Given the description of an element on the screen output the (x, y) to click on. 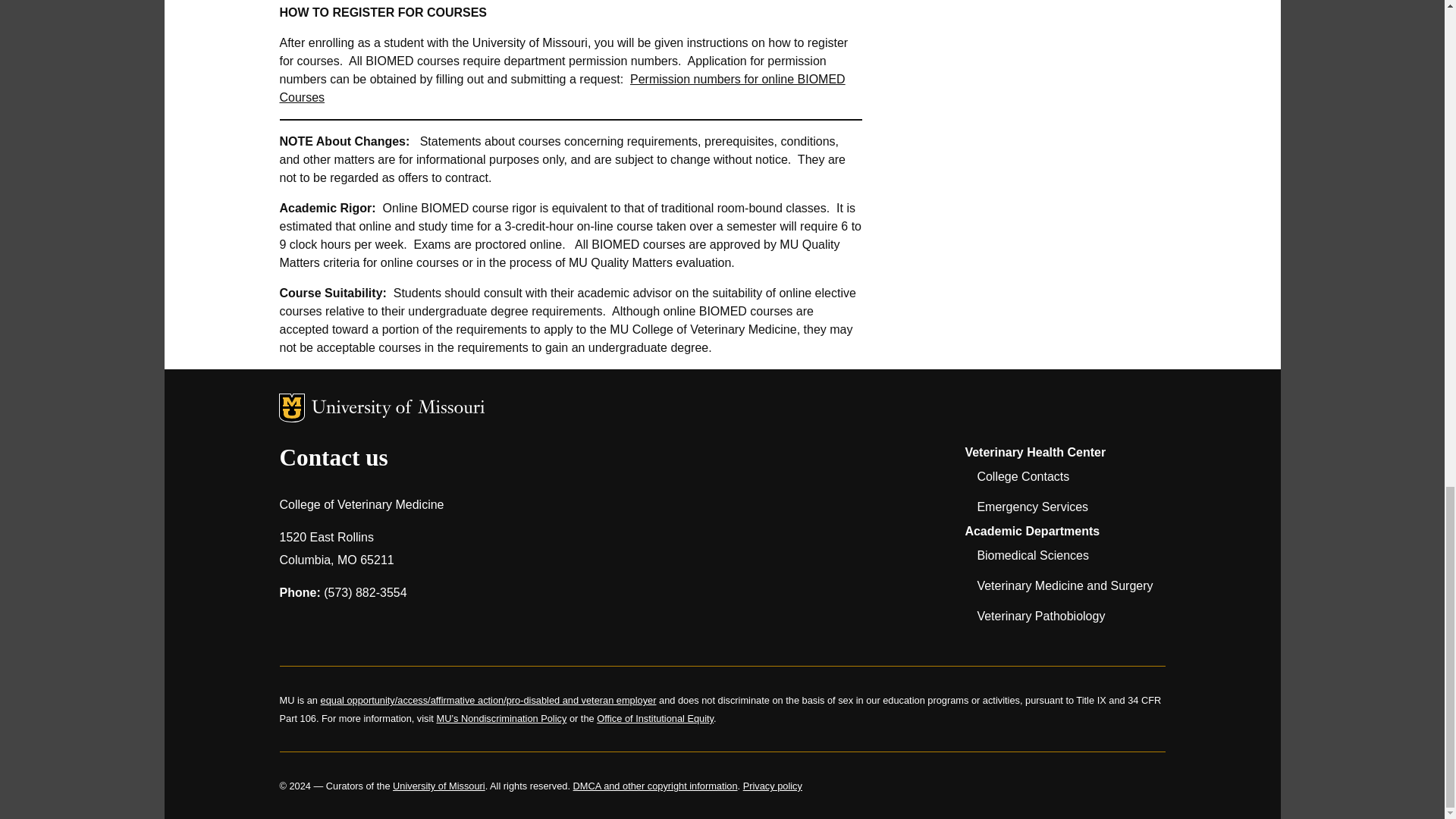
Facebook (292, 627)
Instagram (332, 627)
X (371, 627)
